Given the description of an element on the screen output the (x, y) to click on. 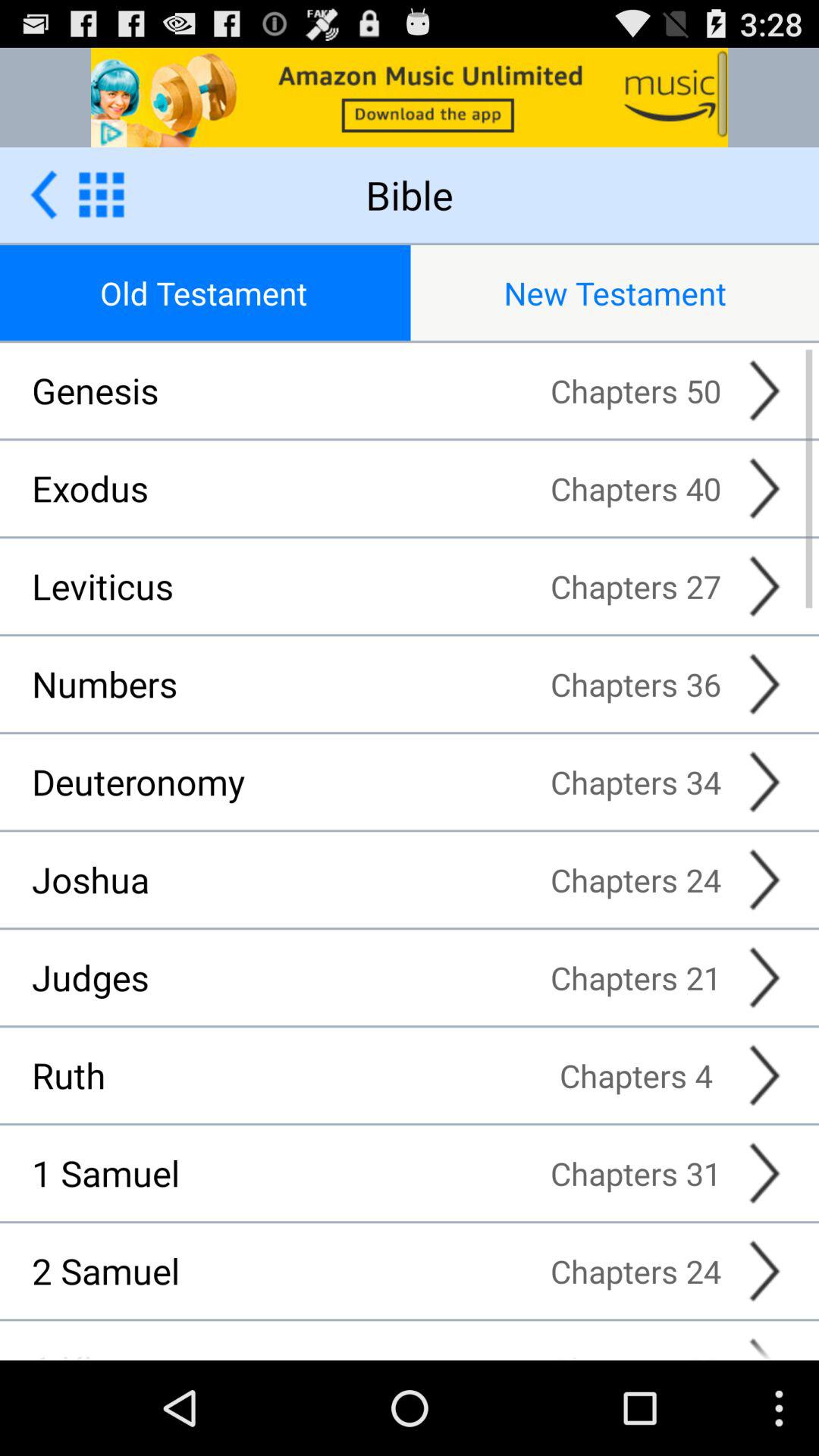
open menu tiles (101, 194)
